Given the description of an element on the screen output the (x, y) to click on. 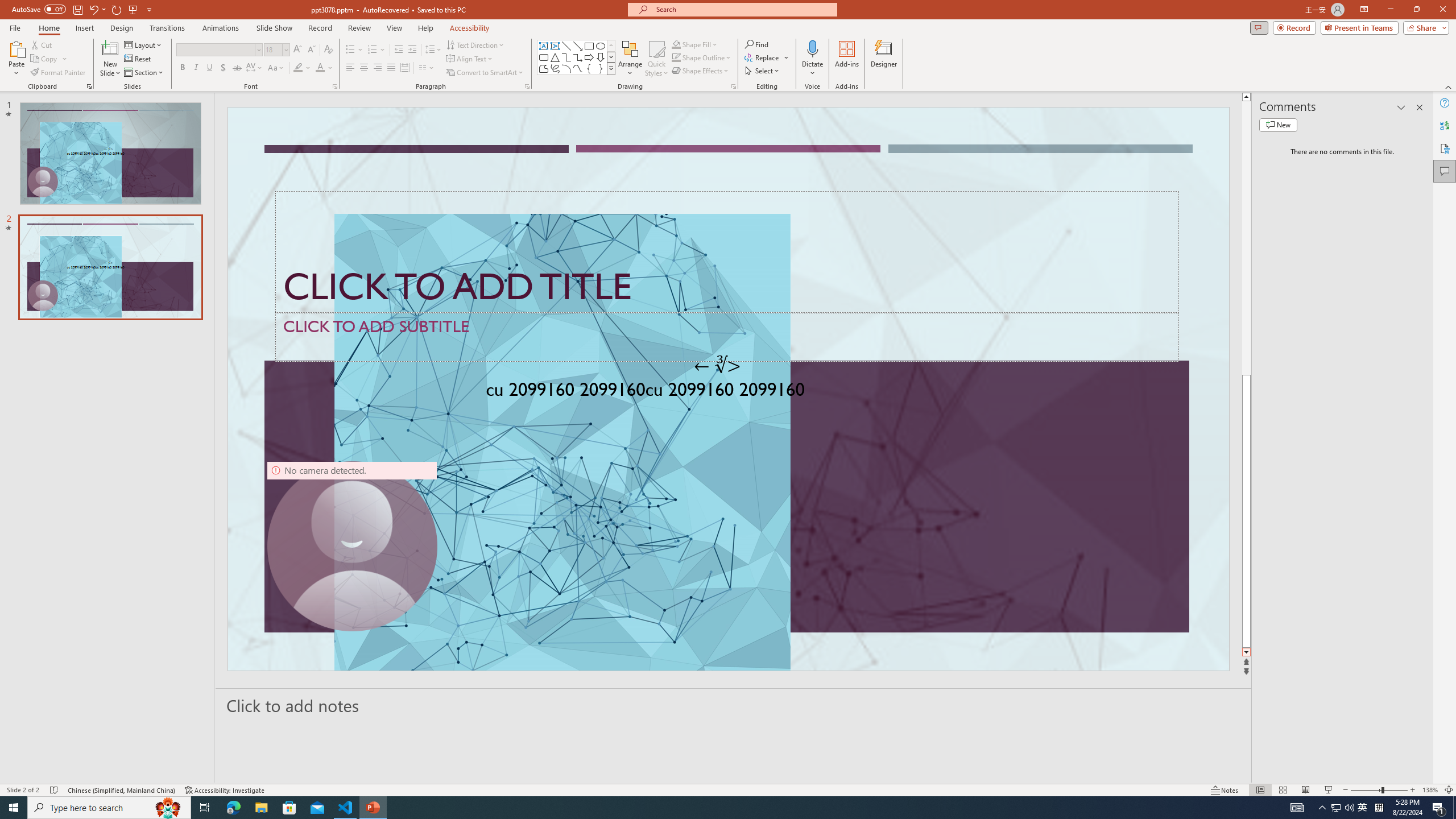
An abstract genetic concept (728, 388)
